Given the description of an element on the screen output the (x, y) to click on. 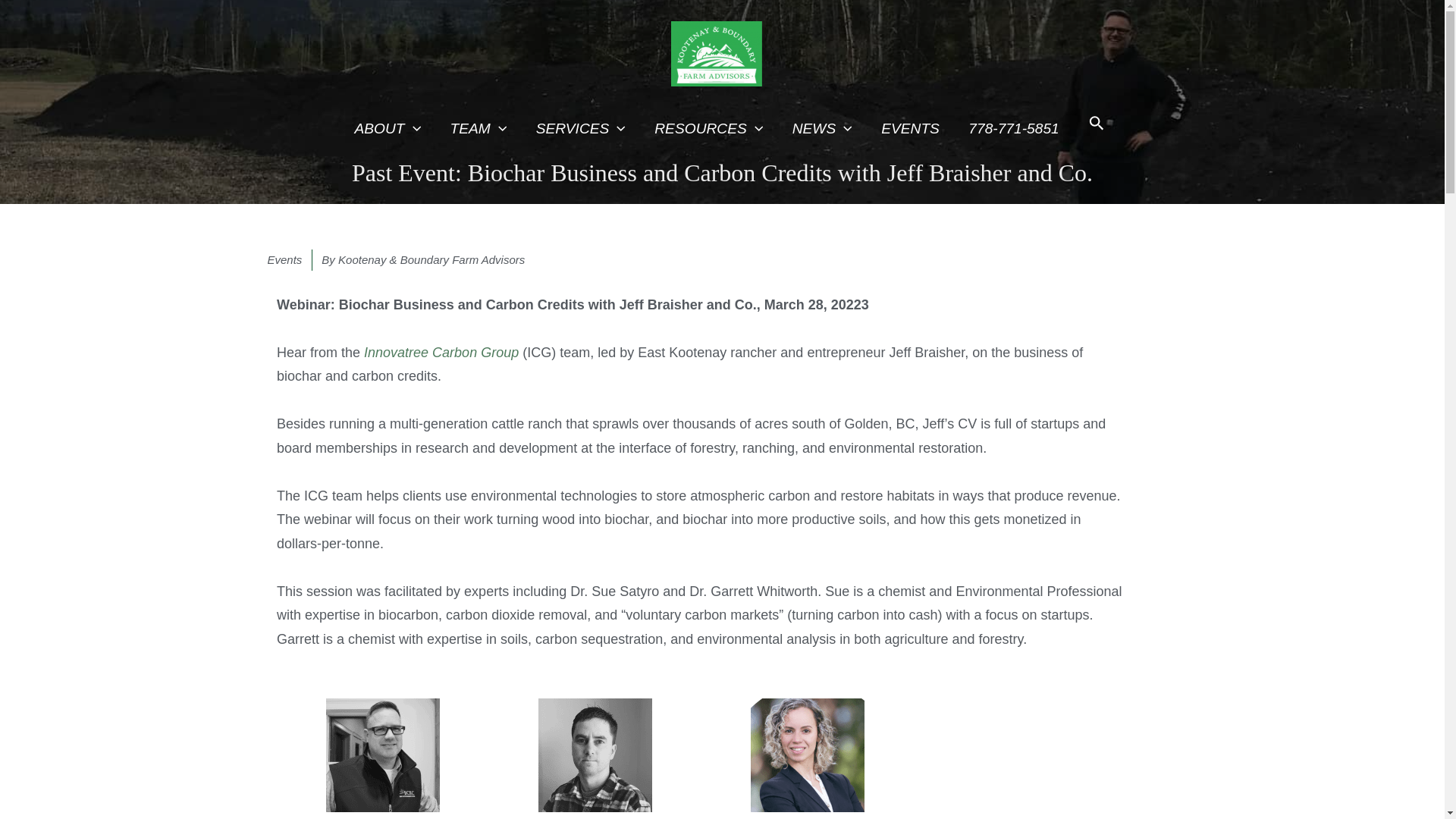
NEWS (821, 128)
ABOUT (387, 128)
EVENTS (909, 128)
TEAM (478, 128)
SERVICES (580, 128)
778-771-5851 (1013, 128)
RESOURCES (708, 128)
